Given the description of an element on the screen output the (x, y) to click on. 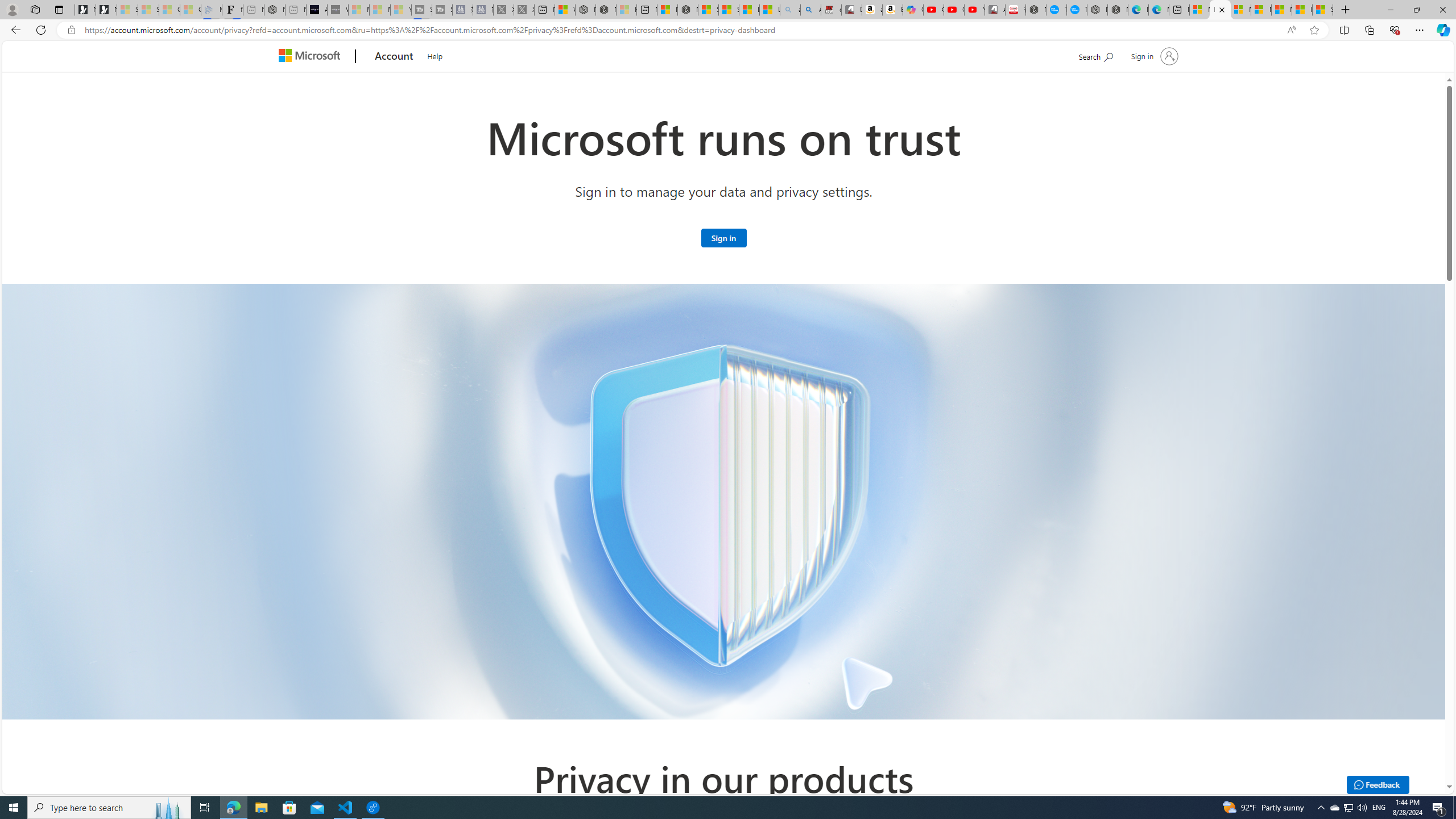
Account (394, 56)
Streaming Coverage | T3 - Sleeping (421, 9)
Nordace - My Account (1035, 9)
Search Microsoft.com (1095, 54)
Gloom - YouTube (954, 9)
Microsoft Start - Sleeping (379, 9)
